Given the description of an element on the screen output the (x, y) to click on. 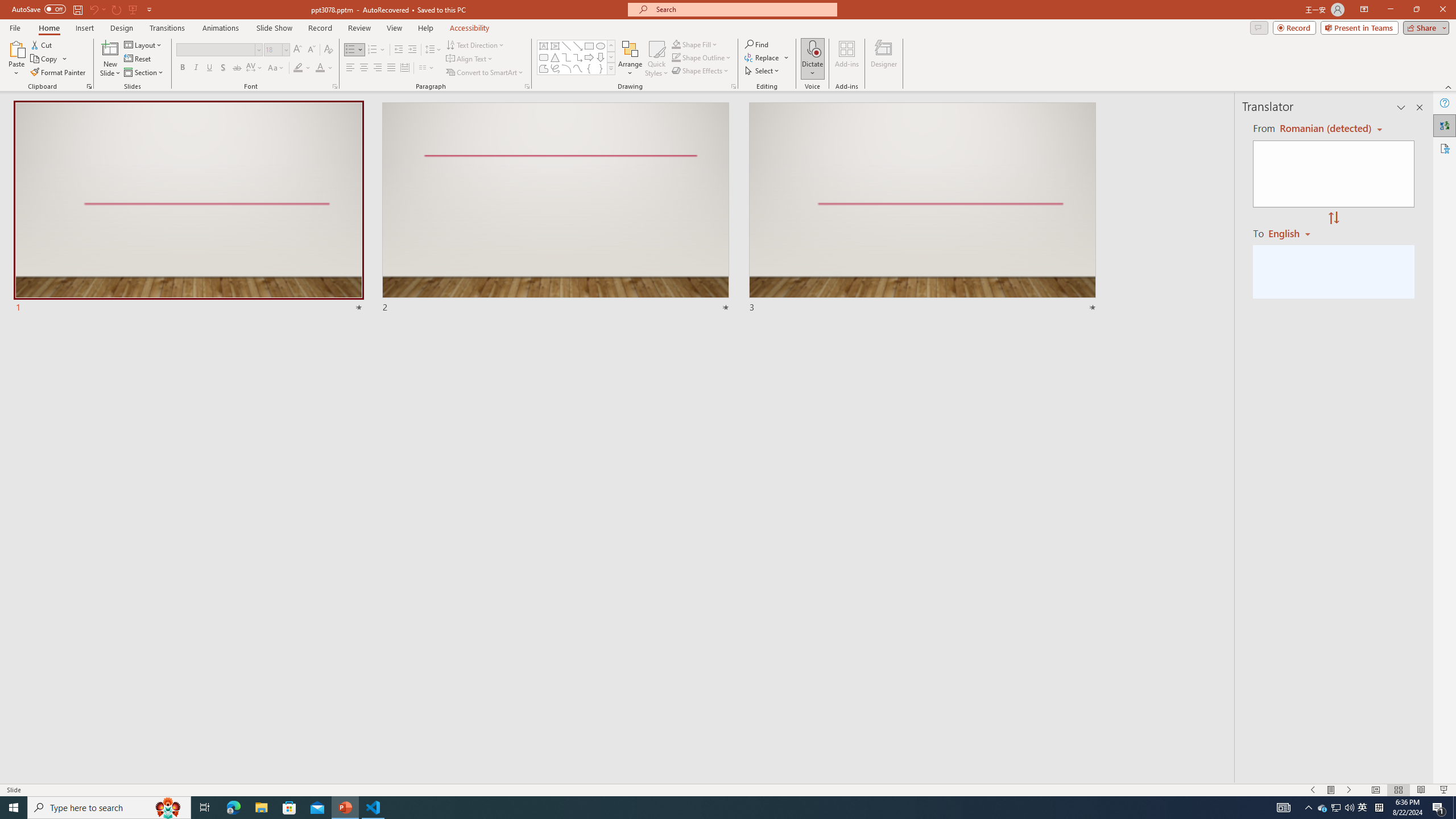
Curve (577, 68)
Oval (600, 45)
Change Case (276, 67)
Find... (756, 44)
Shape Effects (700, 69)
Paragraph... (526, 85)
Freeform: Shape (543, 68)
Center (363, 67)
Menu On (1331, 790)
